Given the description of an element on the screen output the (x, y) to click on. 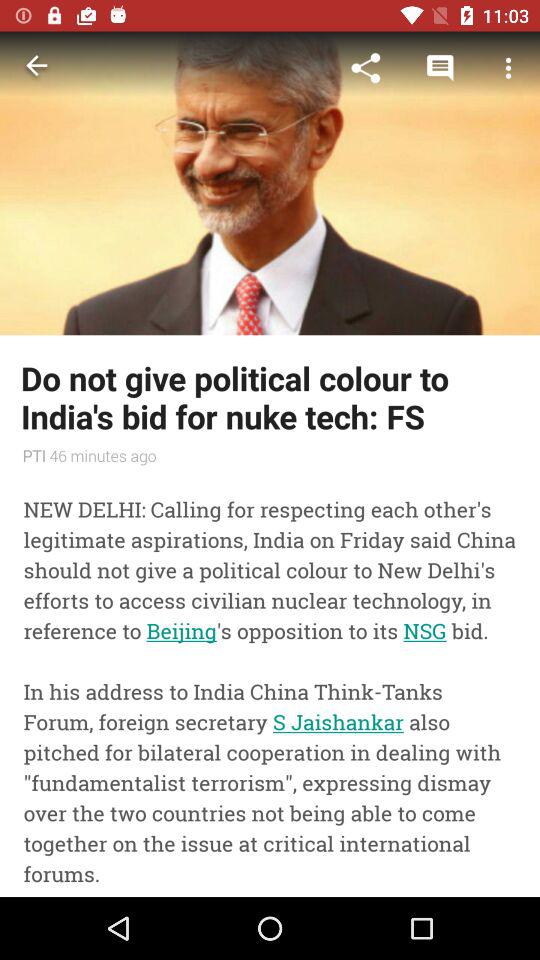
click item above do not give item (366, 67)
